Given the description of an element on the screen output the (x, y) to click on. 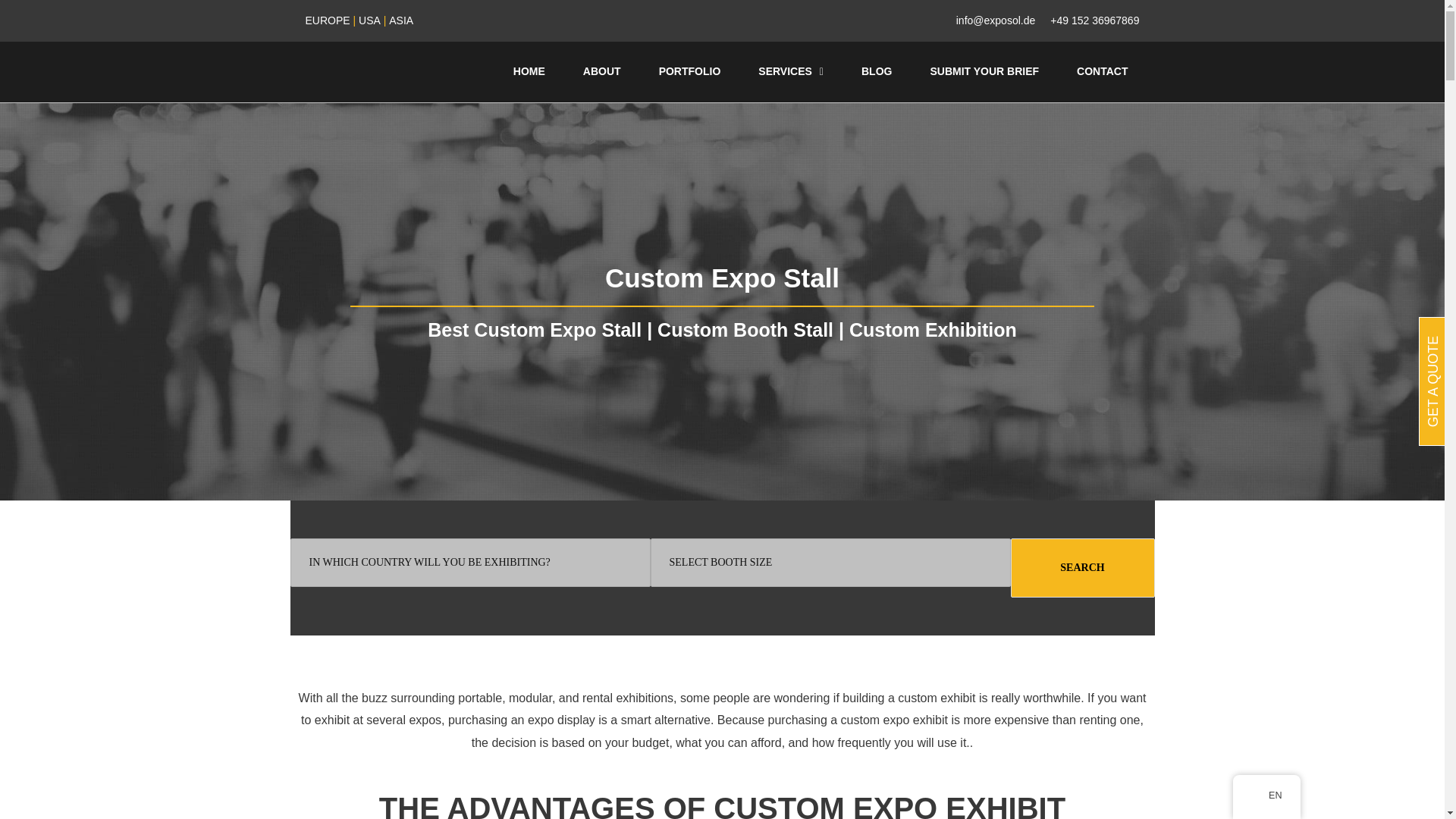
EUROPE (326, 20)
ABOUT (602, 71)
SEARCH (1082, 567)
SUBMIT YOUR BRIEF (984, 71)
CONTACT (1102, 71)
PORTFOLIO (689, 71)
USA (369, 20)
SERVICES (791, 71)
BLOG (877, 71)
HOME (529, 71)
